Given the description of an element on the screen output the (x, y) to click on. 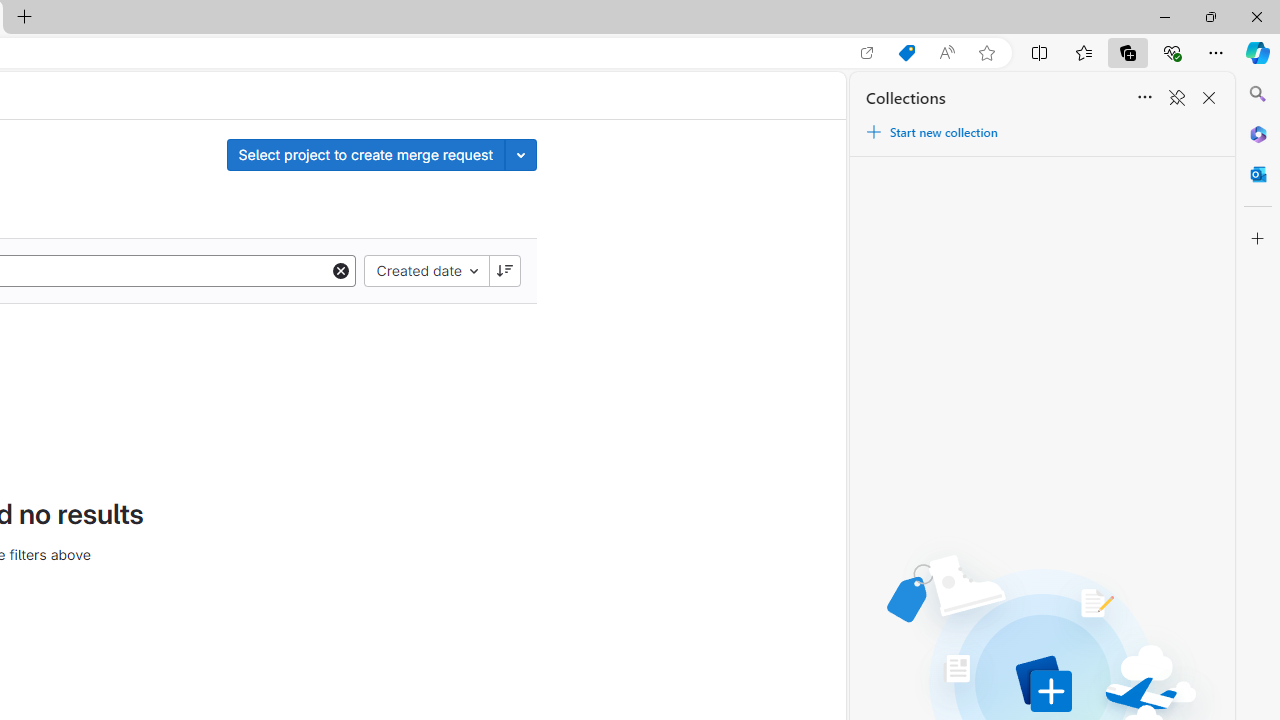
Open in app (867, 53)
Created date (426, 270)
Class: s16 gl-icon gl-button-icon  (504, 270)
Close Collections (1208, 98)
Unpin Collections (1176, 98)
Clear (341, 269)
